Given the description of an element on the screen output the (x, y) to click on. 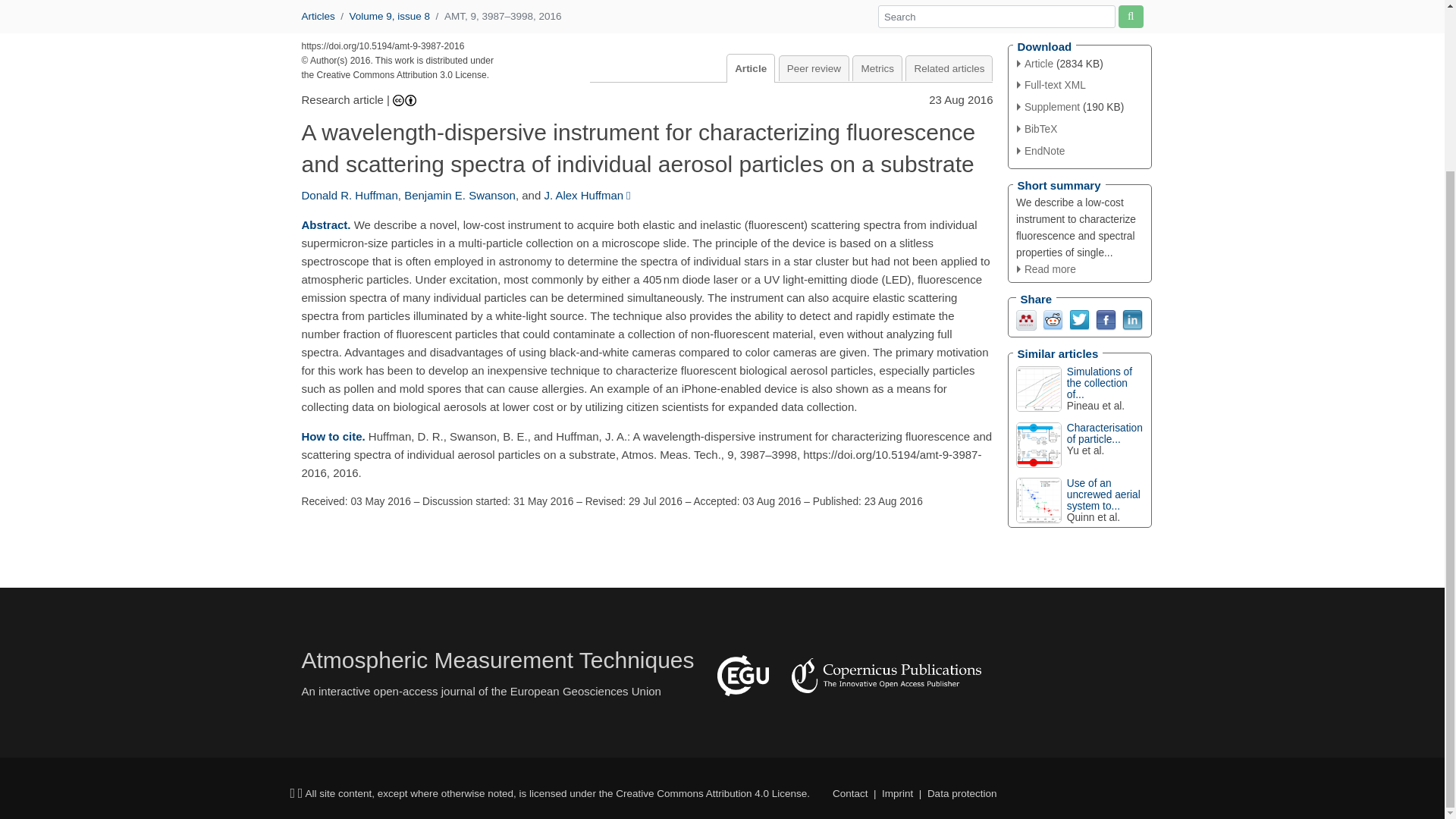
Start site search (1130, 15)
Twitter (1078, 318)
Reddit (1052, 318)
XML Version (1051, 84)
Facebook (1104, 318)
Mendeley (1026, 318)
